Given the description of an element on the screen output the (x, y) to click on. 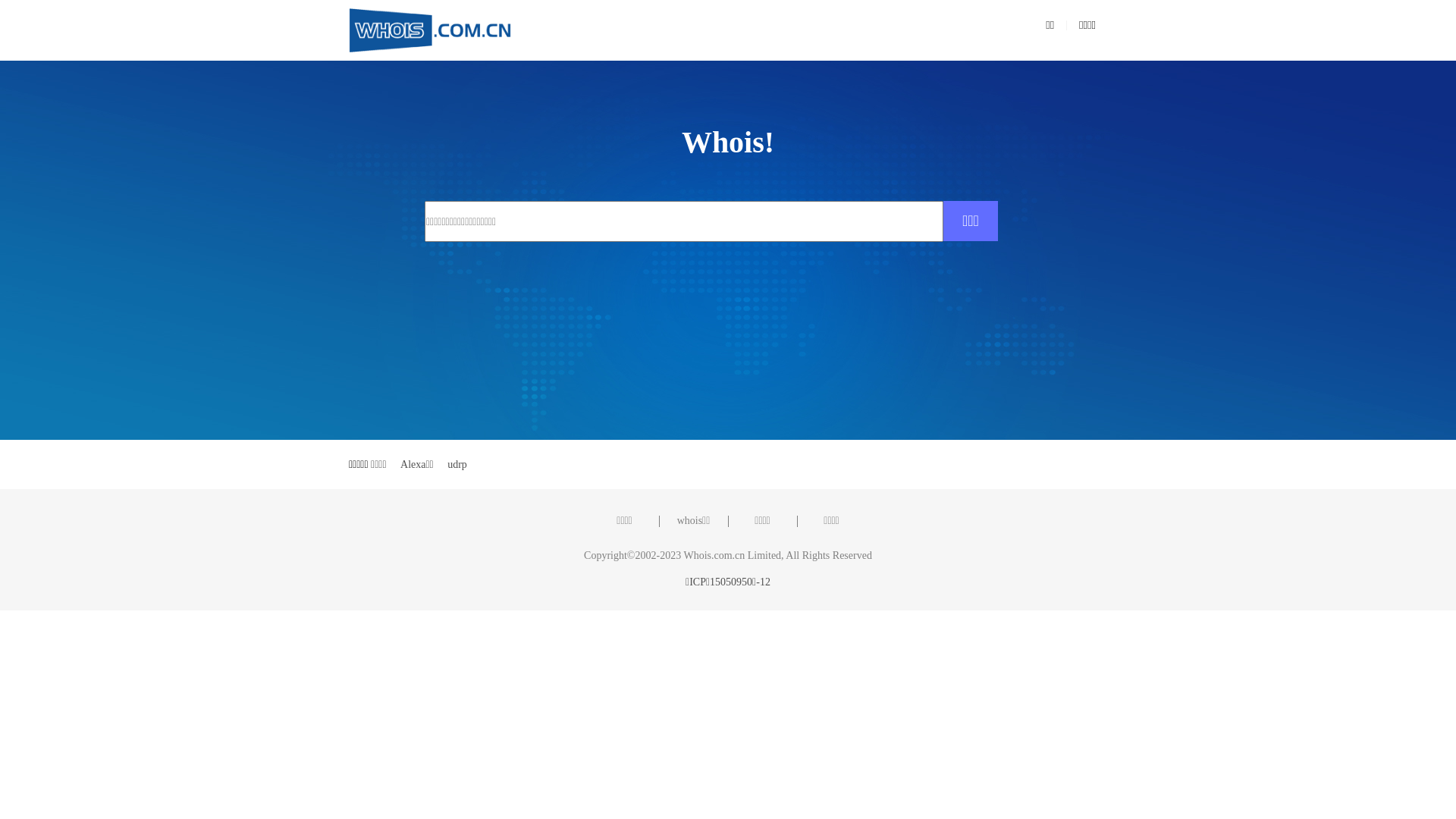
udrp Element type: text (457, 464)
